Given the description of an element on the screen output the (x, y) to click on. 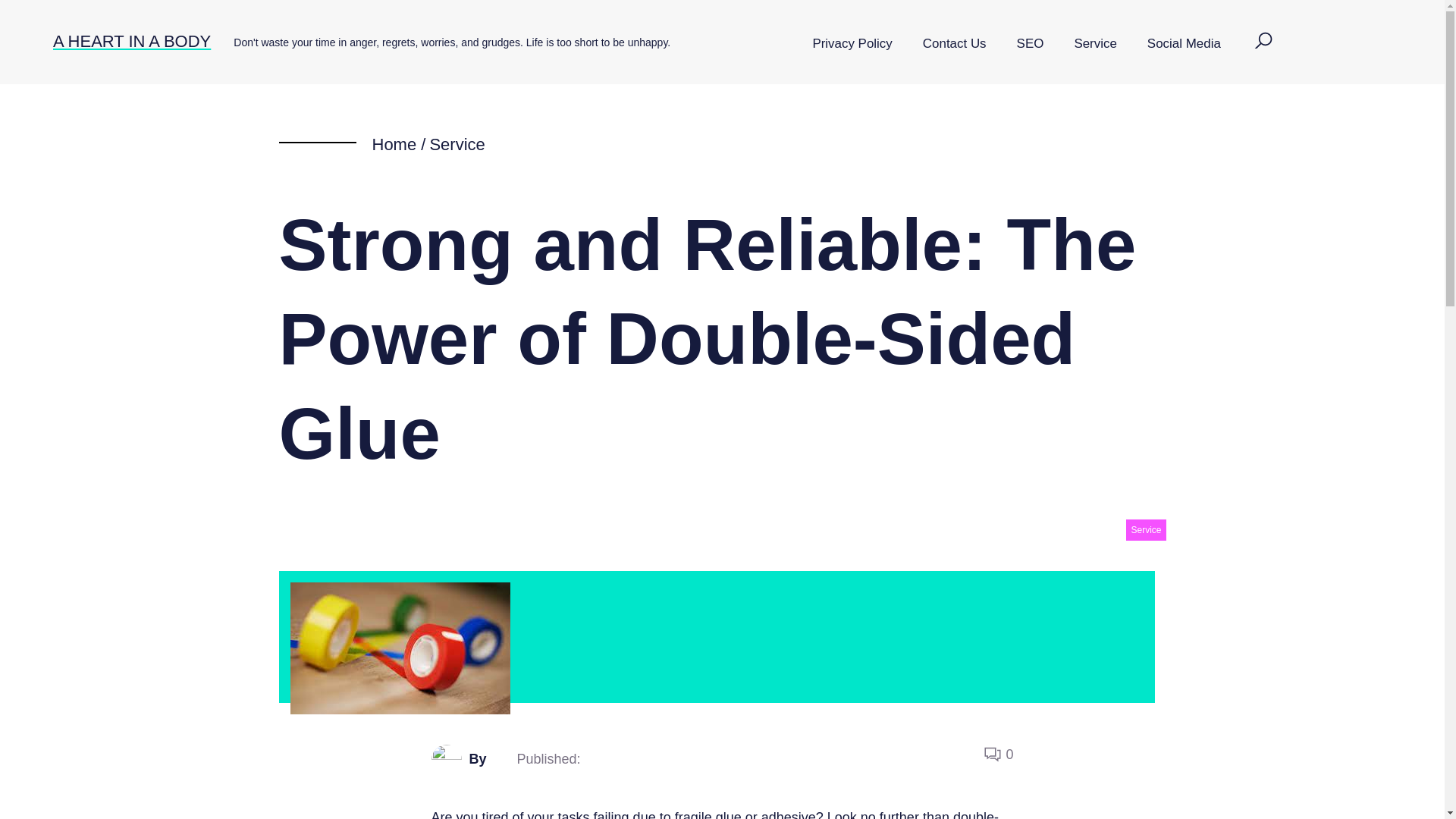
Service (456, 144)
Service (1094, 43)
Privacy Policy (851, 43)
Service (1145, 529)
Home (393, 144)
A HEART IN A BODY (131, 40)
Social Media (1184, 43)
Contact Us (954, 43)
